Given the description of an element on the screen output the (x, y) to click on. 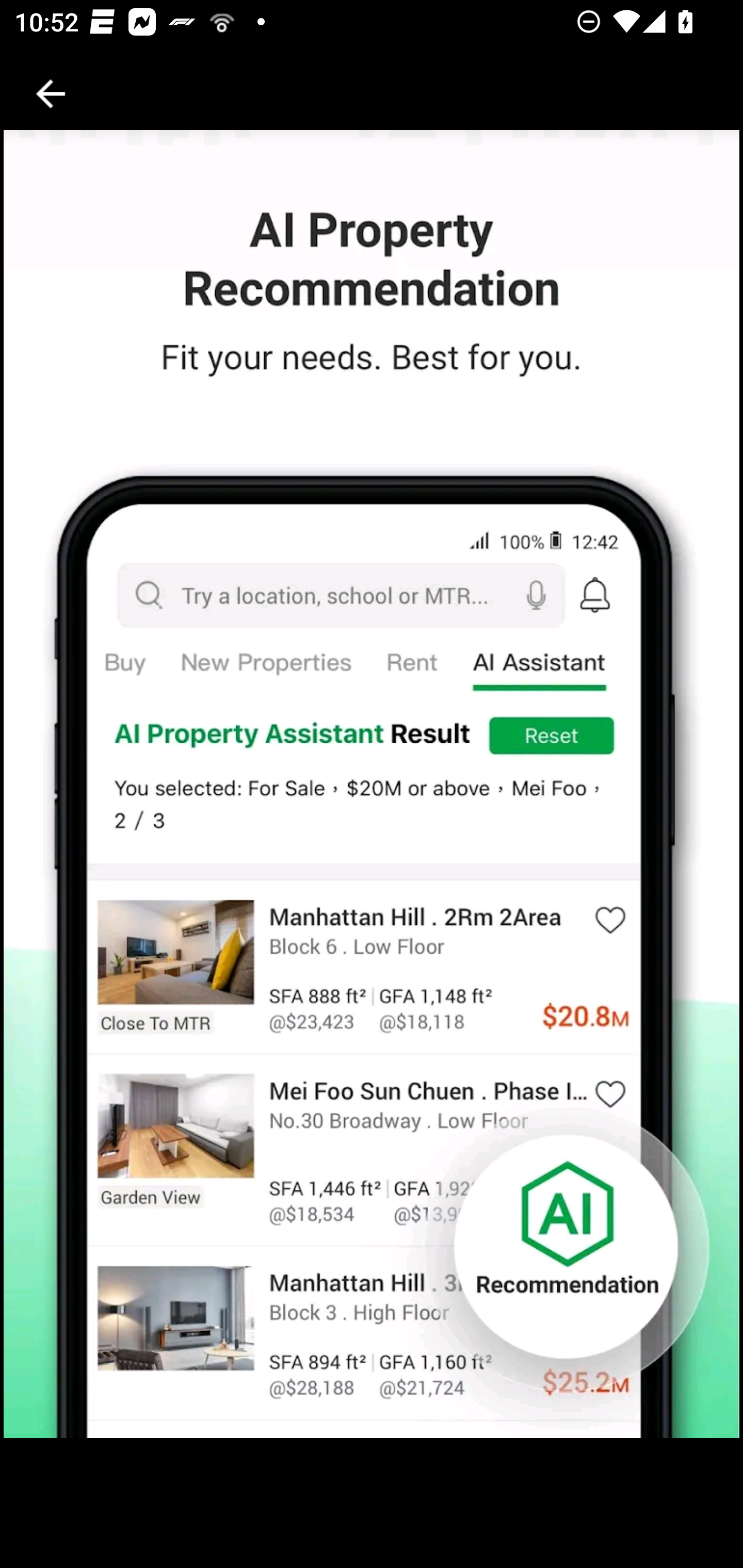
Back (50, 93)
